Given the description of an element on the screen output the (x, y) to click on. 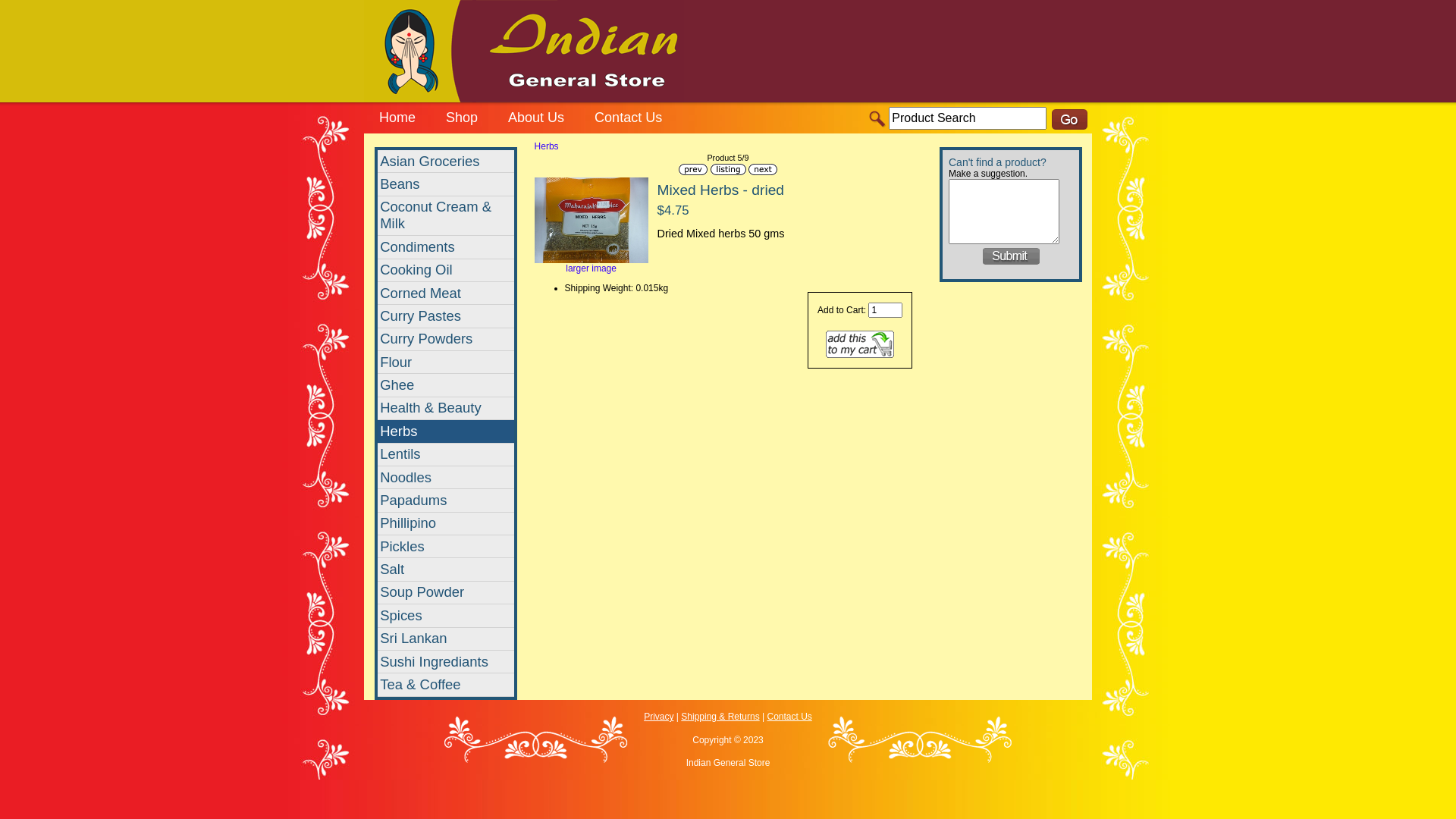
Papadums Element type: text (445, 500)
Salt Element type: text (445, 569)
Shop Element type: text (461, 119)
Pickles Element type: text (445, 546)
Contact Us Element type: text (788, 716)
About Us Element type: text (535, 119)
Curry Pastes Element type: text (445, 315)
 Next  Element type: hover (762, 169)
Herbs Element type: text (445, 431)
Privacy Element type: text (658, 716)
Contact Us Element type: text (628, 119)
Health & Beauty Element type: text (445, 408)
Spices Element type: text (445, 615)
 Previous  Element type: hover (692, 169)
 Indian General Store  Element type: hover (877, 119)
Corned Meat Element type: text (445, 293)
Sushi Ingrediants Element type: text (445, 661)
Beans Element type: text (445, 183)
Flour Element type: text (445, 362)
Lentils Element type: text (445, 453)
Noodles Element type: text (445, 477)
Curry Powders Element type: text (445, 339)
Asian Groceries Element type: text (445, 161)
 Go  Element type: hover (1069, 119)
Phillipino Element type: text (445, 523)
Herbs Element type: text (546, 146)
Home Element type: text (397, 119)
 Indian General Store  Element type: hover (524, 51)
 Mixed Herbs - dried  Element type: hover (591, 220)
Ghee Element type: text (445, 384)
 Return to the Product List  Element type: hover (727, 169)
Coconut Cream & Milk Element type: text (445, 215)
Shipping & Returns Element type: text (719, 716)
Soup Powder Element type: text (445, 592)
Sri Lankan Element type: text (445, 638)
larger image Element type: text (591, 263)
Condiments Element type: text (445, 246)
Cooking Oil Element type: text (445, 270)
Tea & Coffee Element type: text (445, 684)
 Add to Cart  Element type: hover (859, 343)
